Given the description of an element on the screen output the (x, y) to click on. 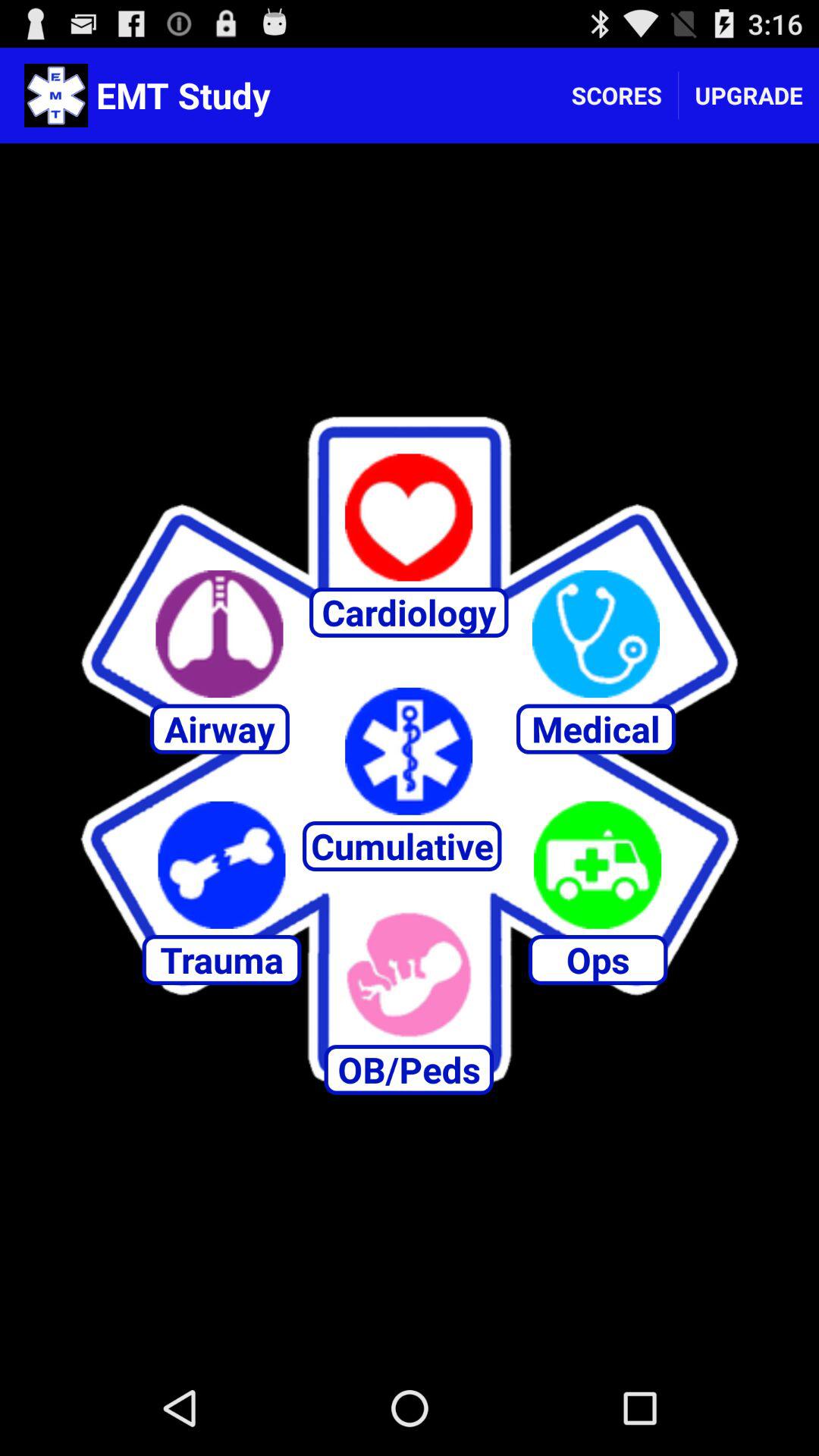
go to ops option (597, 864)
